Given the description of an element on the screen output the (x, y) to click on. 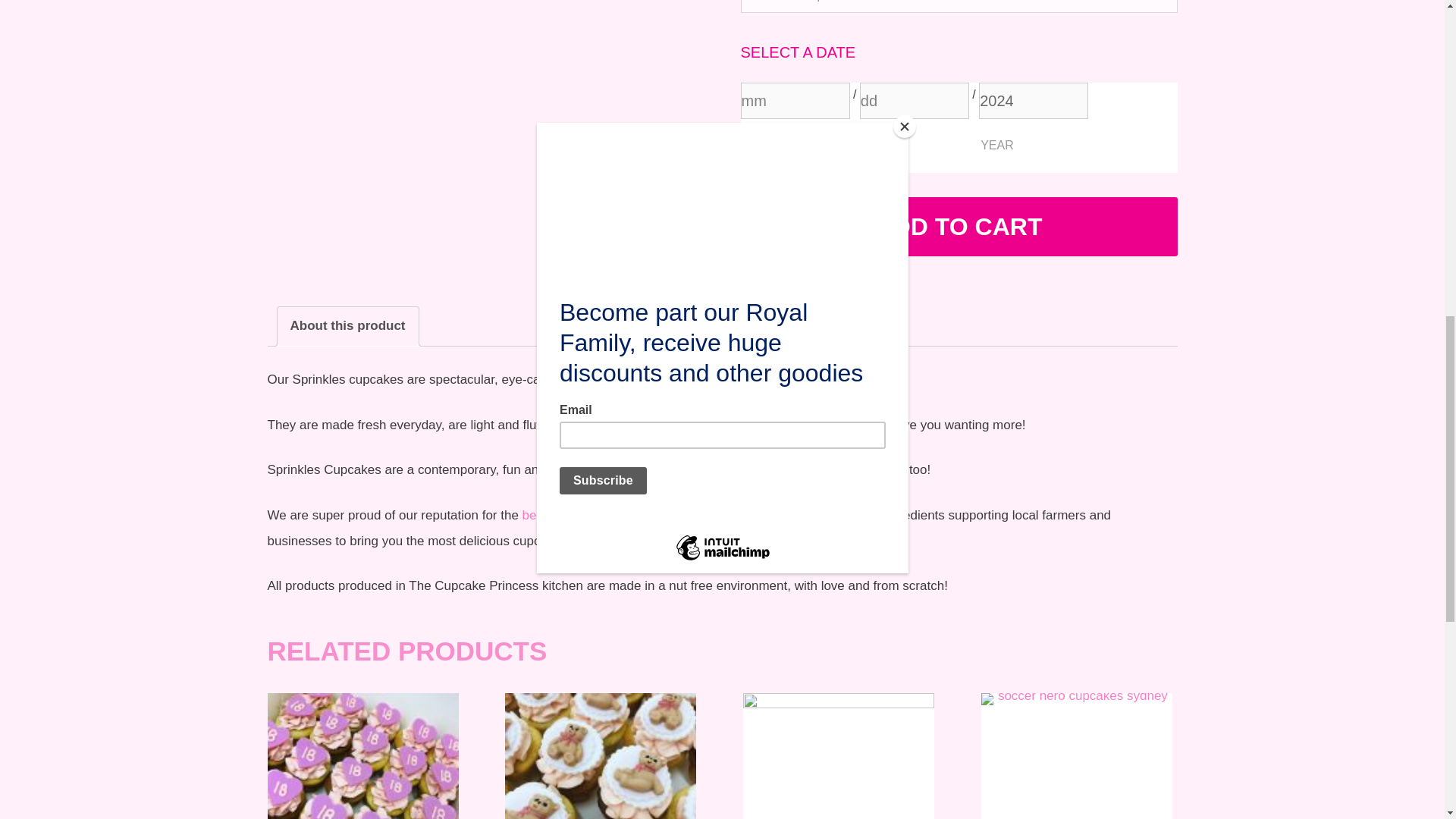
2024 (1032, 100)
